Given the description of an element on the screen output the (x, y) to click on. 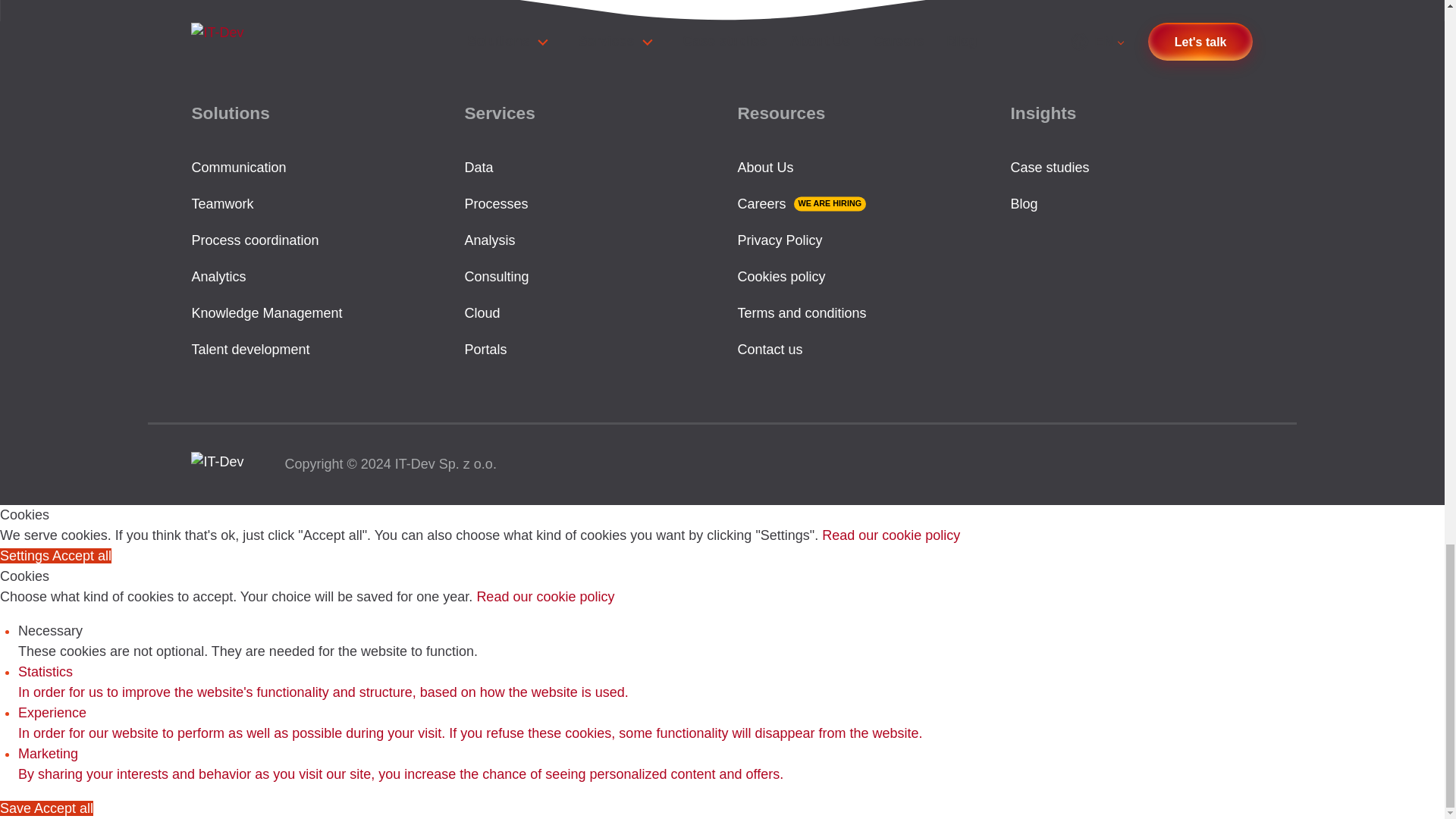
Processes (495, 203)
Talent development (249, 349)
Process coordination (254, 239)
Teamwork (221, 203)
Communication (237, 167)
Consulting (496, 276)
Analysis (489, 239)
Knowledge Management (266, 312)
Analytics (218, 276)
Data (478, 167)
